Given the description of an element on the screen output the (x, y) to click on. 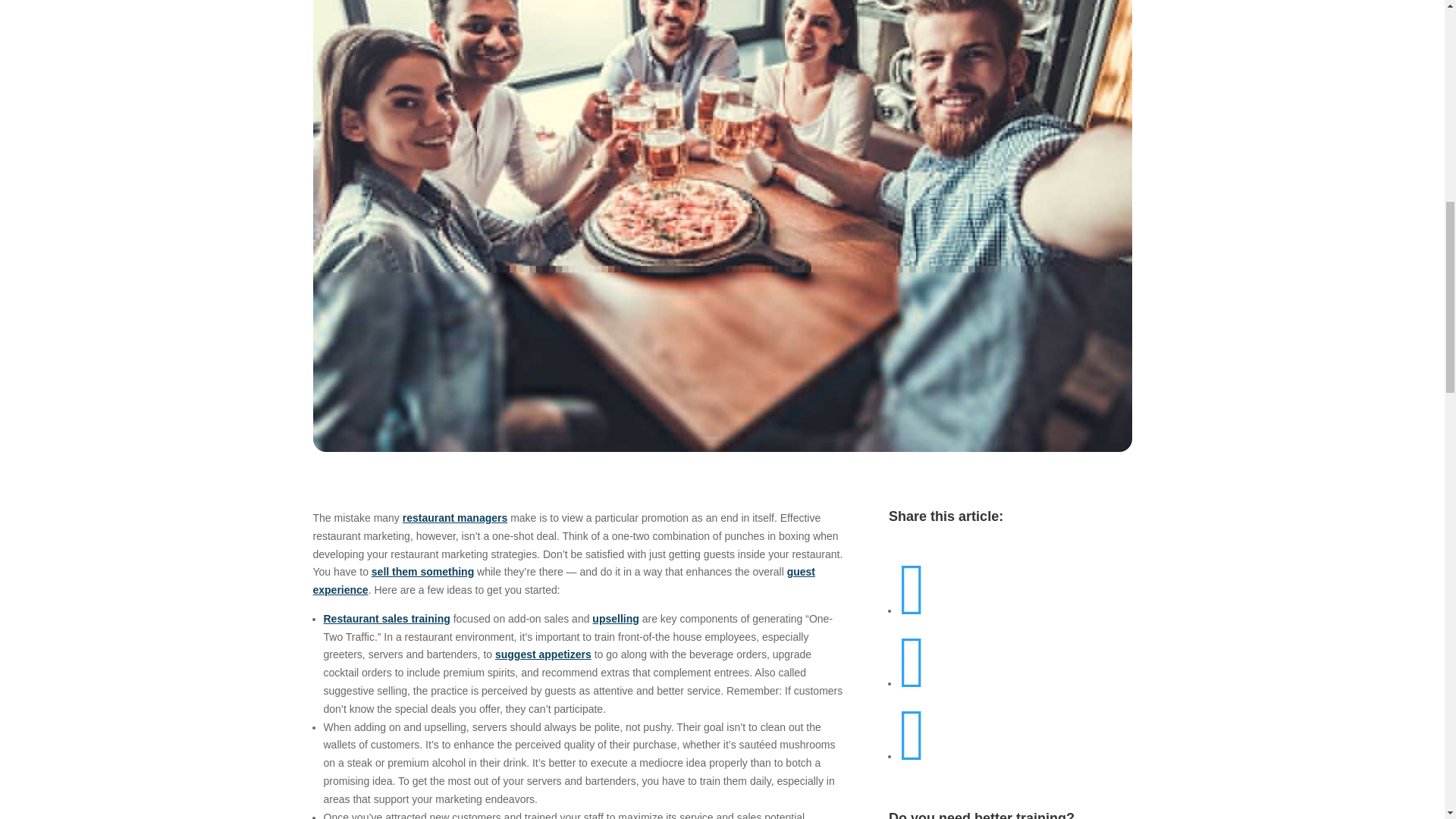
guest experience (564, 580)
suggest appetizers (543, 654)
sell them something (422, 571)
upselling (615, 618)
restaurant managers (455, 517)
Restaurant sales training (386, 618)
